Given the description of an element on the screen output the (x, y) to click on. 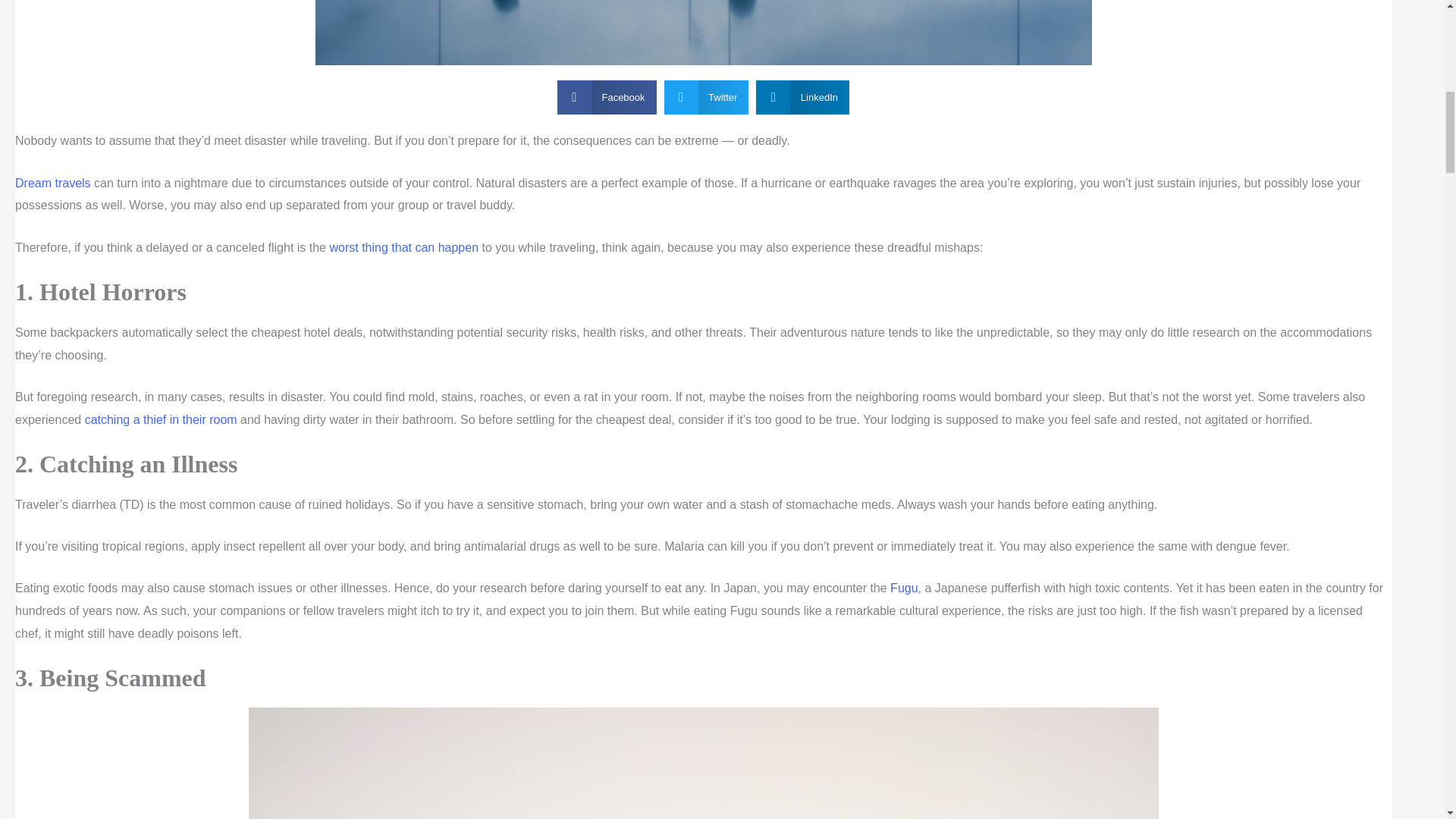
catching a thief in their room (160, 419)
Dream travels (52, 182)
worst thing that can happen (404, 246)
Fugu (903, 587)
